Given the description of an element on the screen output the (x, y) to click on. 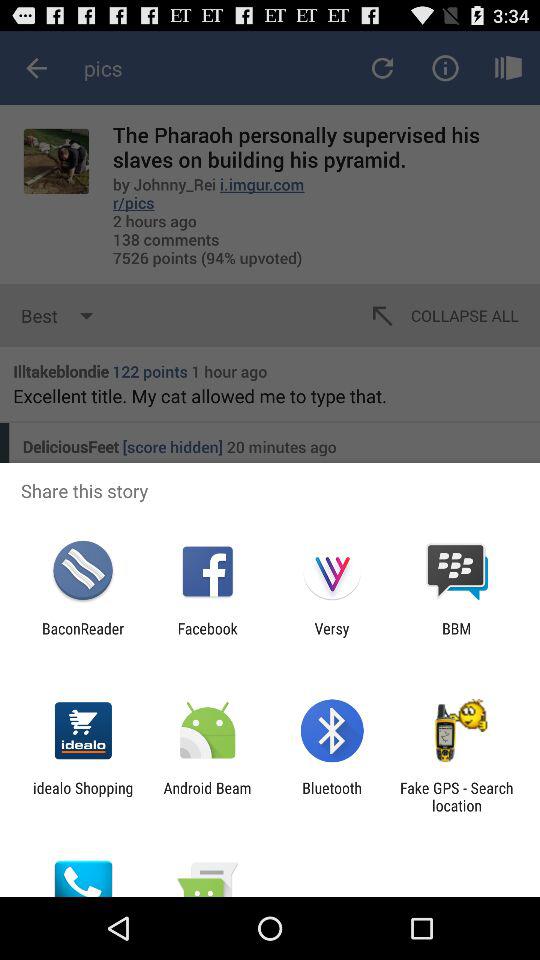
open app to the right of idealo shopping icon (207, 796)
